Given the description of an element on the screen output the (x, y) to click on. 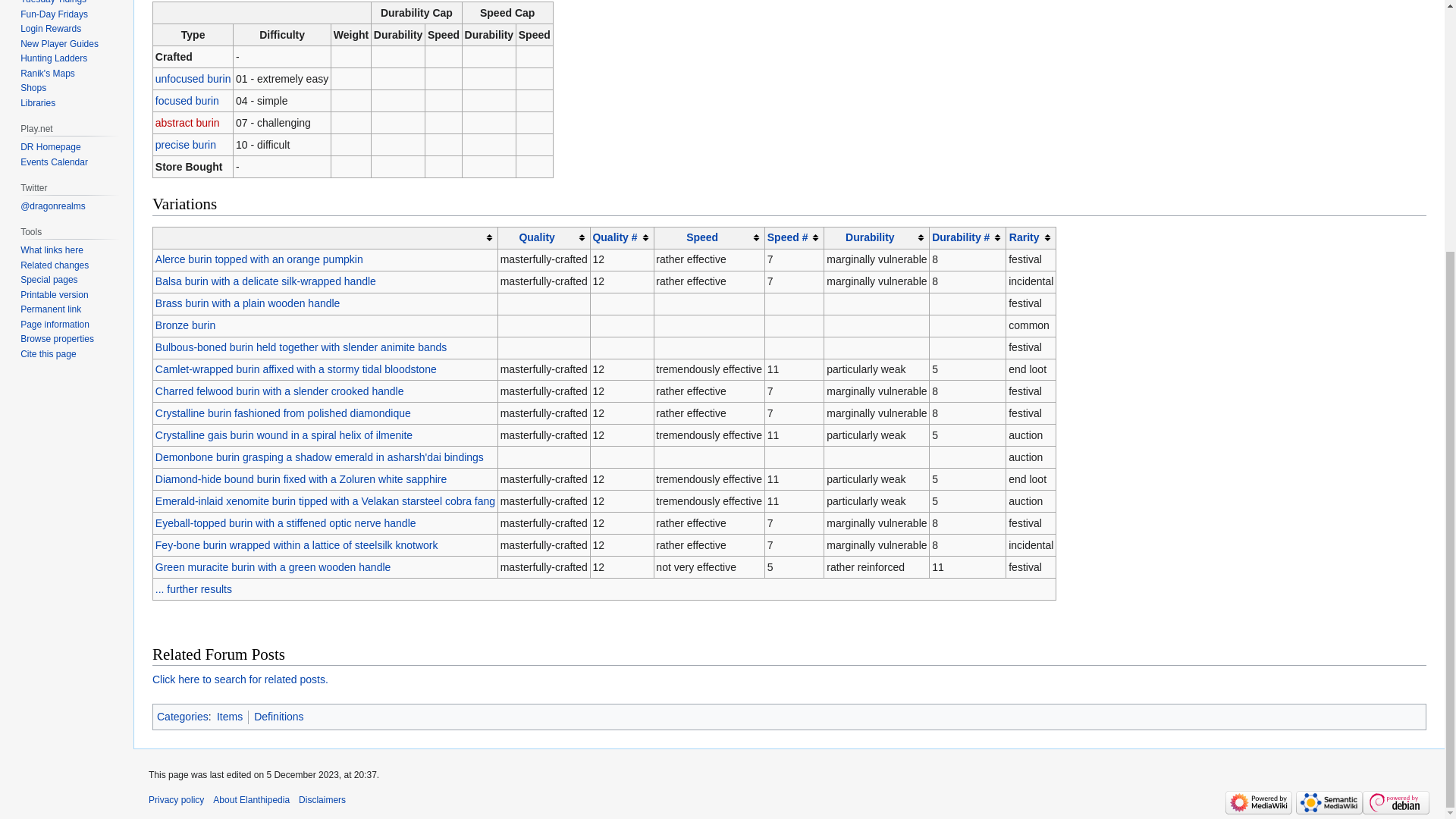
Bulbous-boned burin held together with slender animite bands (300, 346)
Charred felwood burin with a slender crooked handle (279, 390)
Sort ascending (543, 237)
Crystalline gais burin wound in a spiral helix of ilmenite (283, 435)
Durability (870, 236)
Alerce burin topped with an orange pumpkin (258, 259)
unfocused burin (193, 78)
Quality (536, 236)
Rarity (1024, 236)
Bronze burin (185, 325)
